Given the description of an element on the screen output the (x, y) to click on. 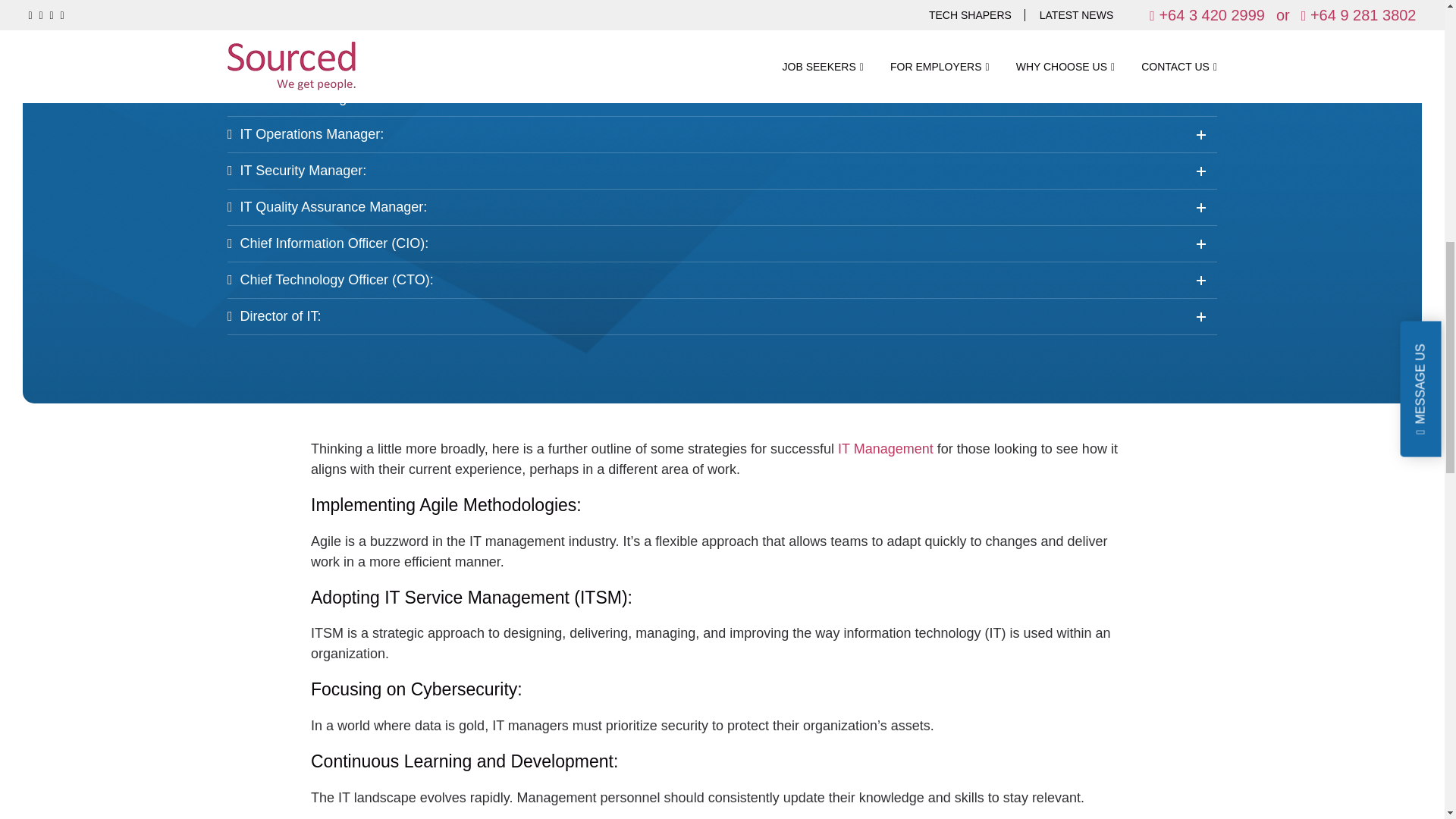
How to Break Into IT Management (885, 448)
Project Managers and Programme Managers (307, 61)
